Given the description of an element on the screen output the (x, y) to click on. 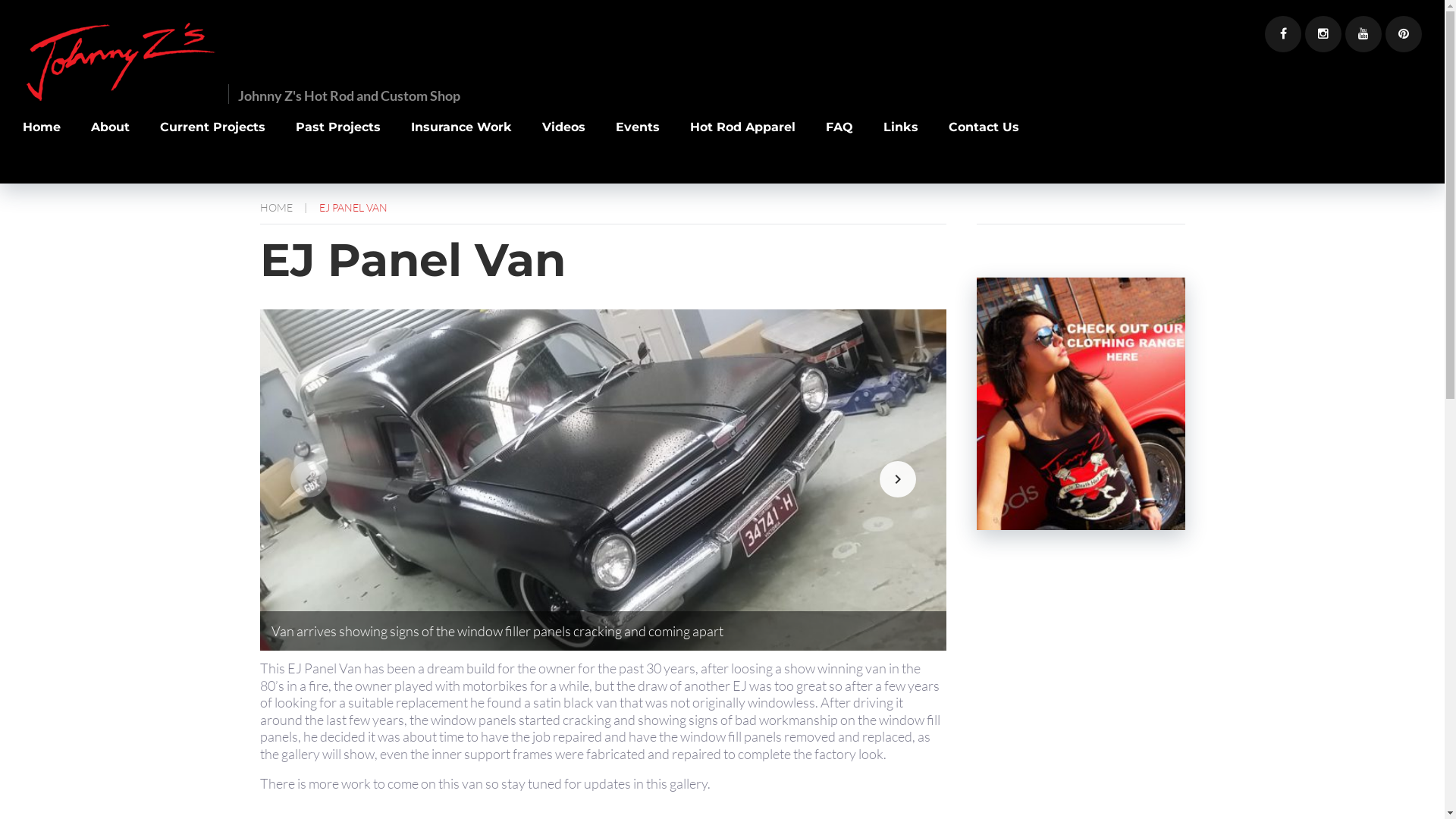
Contact Us Element type: text (983, 142)
Skip to content Element type: text (0, 0)
Instagram Element type: text (1323, 33)
Past Projects Element type: text (337, 142)
Current Projects Element type: text (212, 142)
About Element type: text (110, 142)
Insurance Work Element type: text (461, 142)
FAQ Element type: text (839, 142)
Links Element type: text (900, 142)
Videos Element type: text (563, 142)
HOME Element type: text (275, 206)
Youtube Element type: text (1363, 33)
Facebook Element type: text (1282, 33)
Events Element type: text (637, 142)
Pinterest Element type: text (1403, 33)
Hot Rod Apparel Element type: text (742, 142)
Home Element type: text (41, 142)
